Given the description of an element on the screen output the (x, y) to click on. 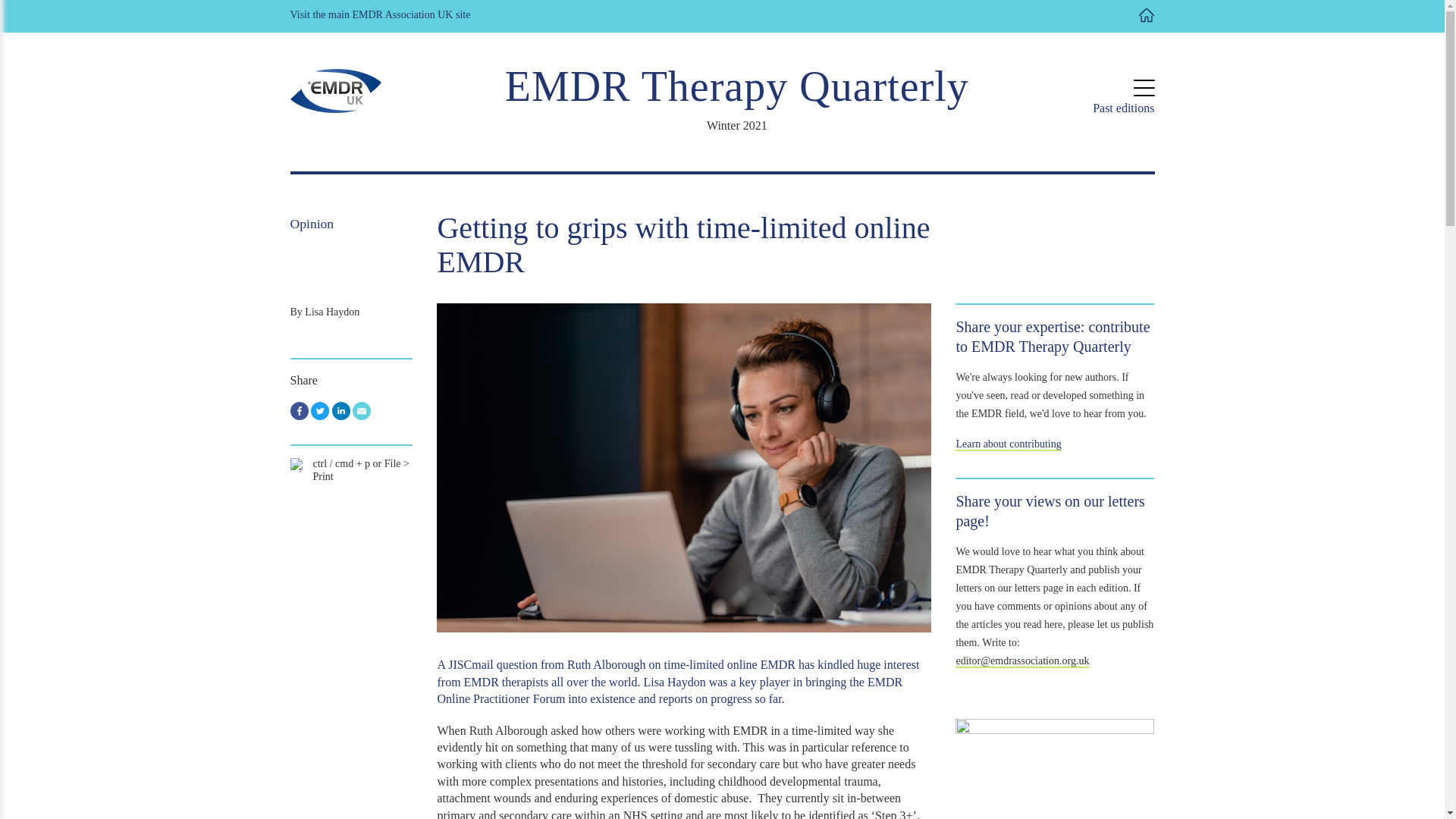
Visit the main EMDR Association UK site (379, 15)
Navigation menu (1143, 87)
Learn about contributing (1008, 444)
EMDR Therapy Quarterly (737, 86)
